Given the description of an element on the screen output the (x, y) to click on. 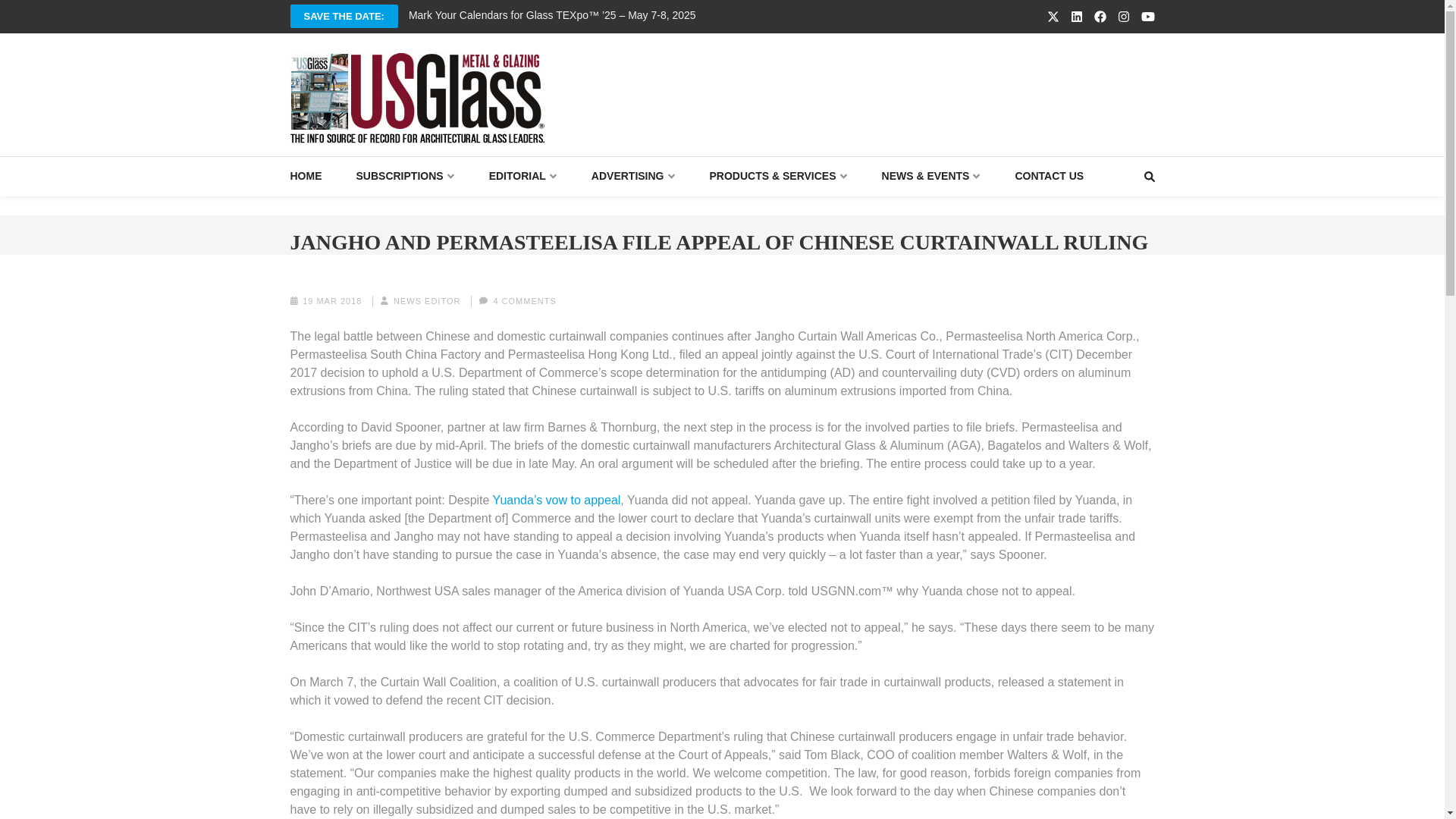
SAVE THE DATE: (343, 15)
EDITORIAL (523, 176)
ADVERTISING (633, 176)
CONTACT US (1048, 176)
SUBSCRIPTIONS (405, 176)
